Given the description of an element on the screen output the (x, y) to click on. 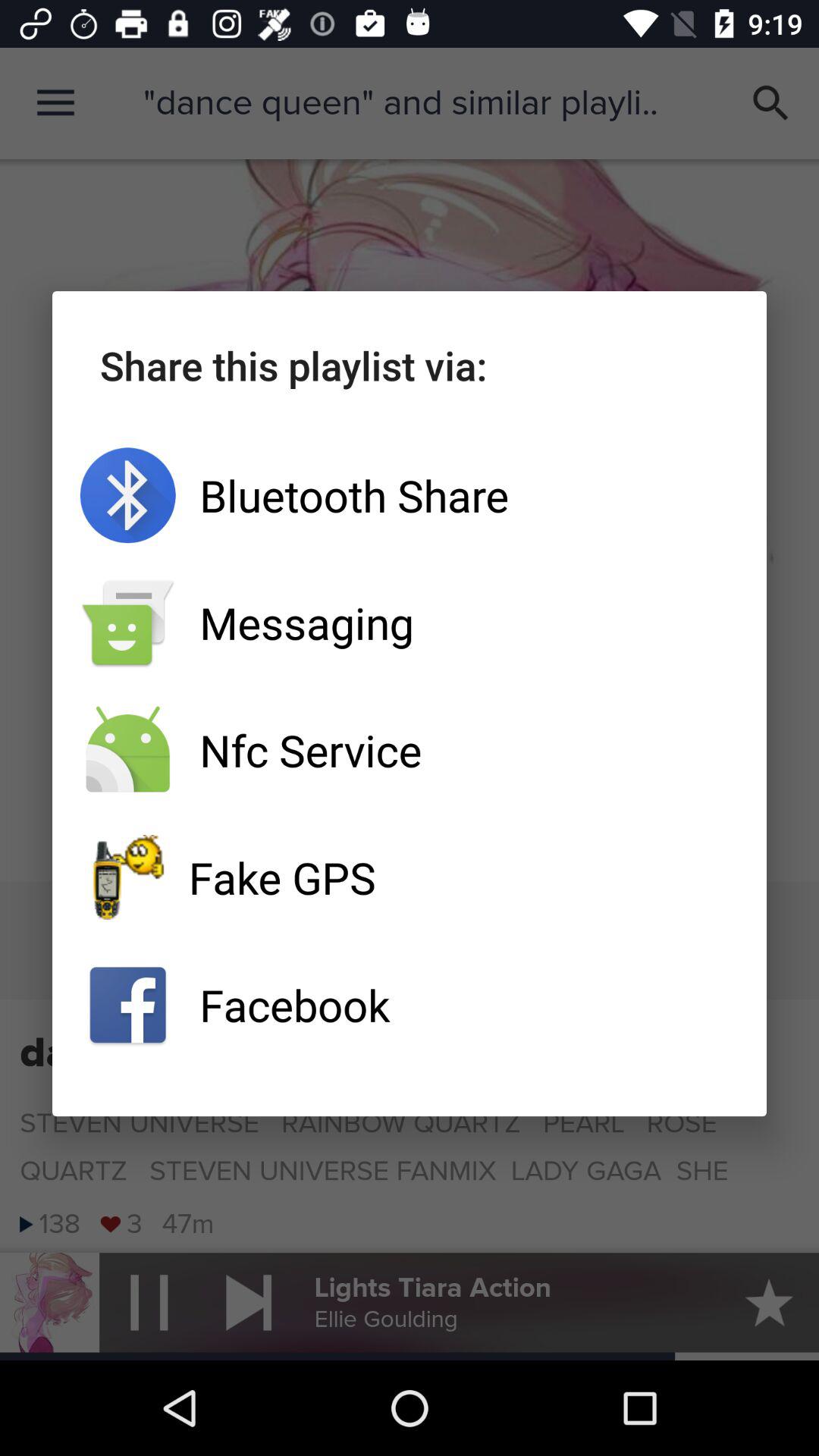
turn off the app below messaging app (409, 749)
